Given the description of an element on the screen output the (x, y) to click on. 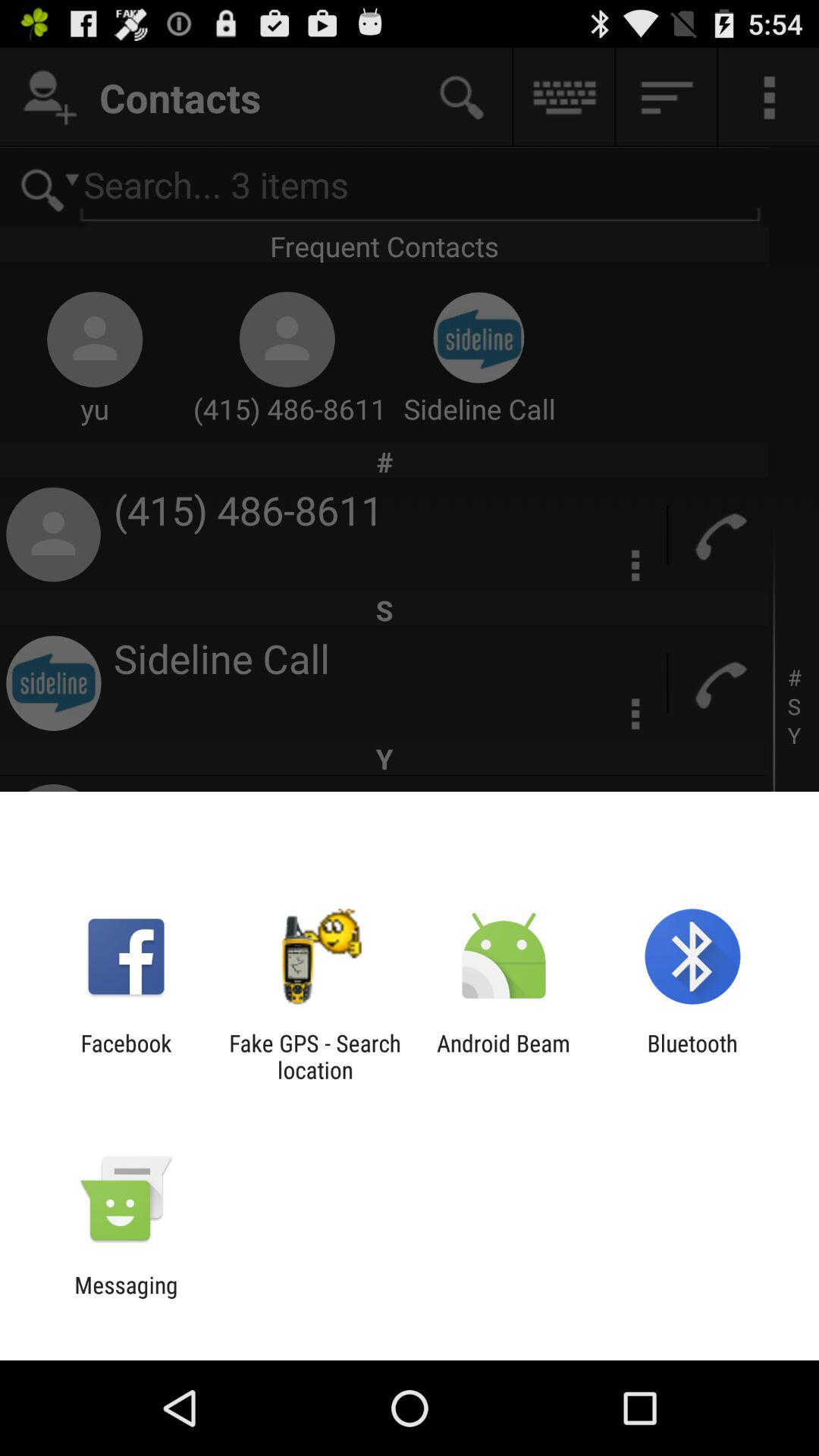
tap the facebook item (125, 1056)
